Given the description of an element on the screen output the (x, y) to click on. 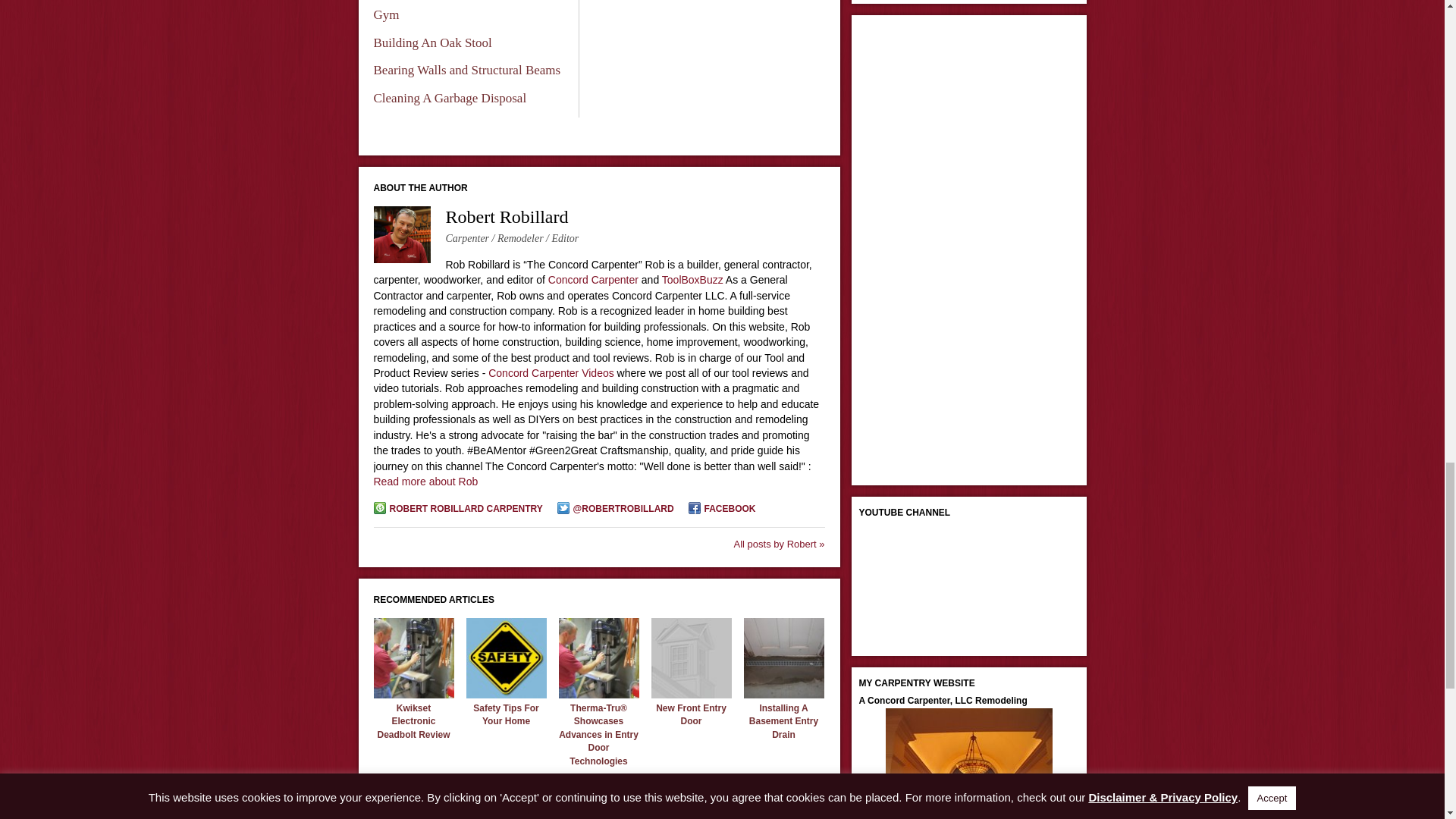
Concord Carpenter (593, 279)
Read more about Rob (424, 481)
What Contractors Should Do At The Gym (467, 11)
Building An Oak Stool (432, 42)
Kwikset Electronic Deadbolt Review (413, 721)
Cleaning A Garbage Disposal (448, 97)
Safety Tips For Your Home (505, 694)
New Front Entry Door (690, 694)
Concord Carpenter Videos (550, 372)
ToolBoxBuzz (692, 279)
Kwikset Electronic Deadbolt Review (412, 694)
New Front Entry Door (691, 714)
Bearing Walls and Structural Beams (466, 69)
Installing A Basement Entry Drain (783, 694)
FACEBOOK (721, 509)
